Given the description of an element on the screen output the (x, y) to click on. 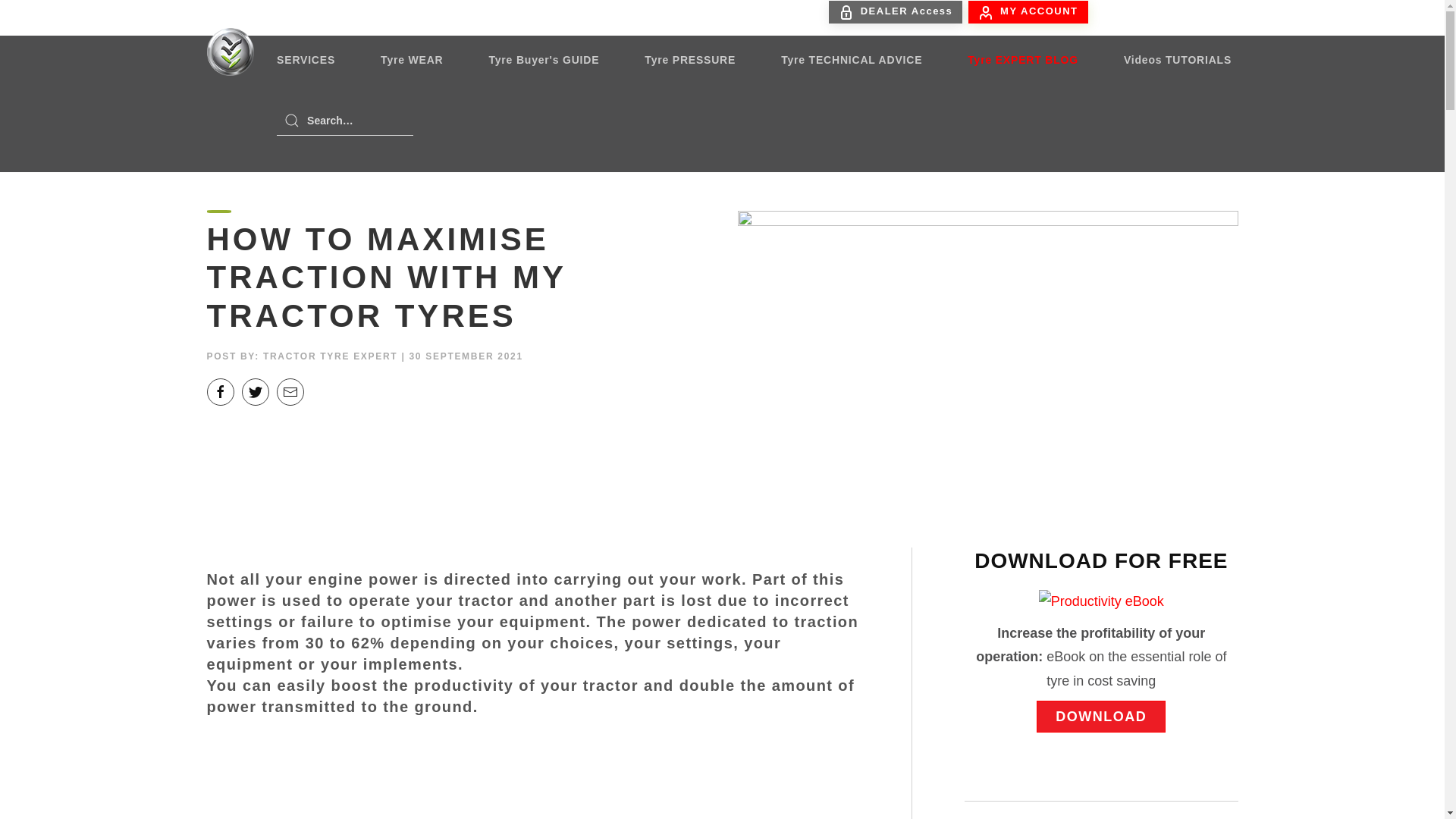
Tyre WEAR (411, 59)
DEALER Access (895, 11)
facebook (219, 391)
MY ACCOUNT (1027, 11)
SERVICES (305, 59)
twitter (254, 391)
Tyre PRESSURE (689, 59)
Tyre Buyer's GUIDE (543, 59)
email (289, 391)
